Given the description of an element on the screen output the (x, y) to click on. 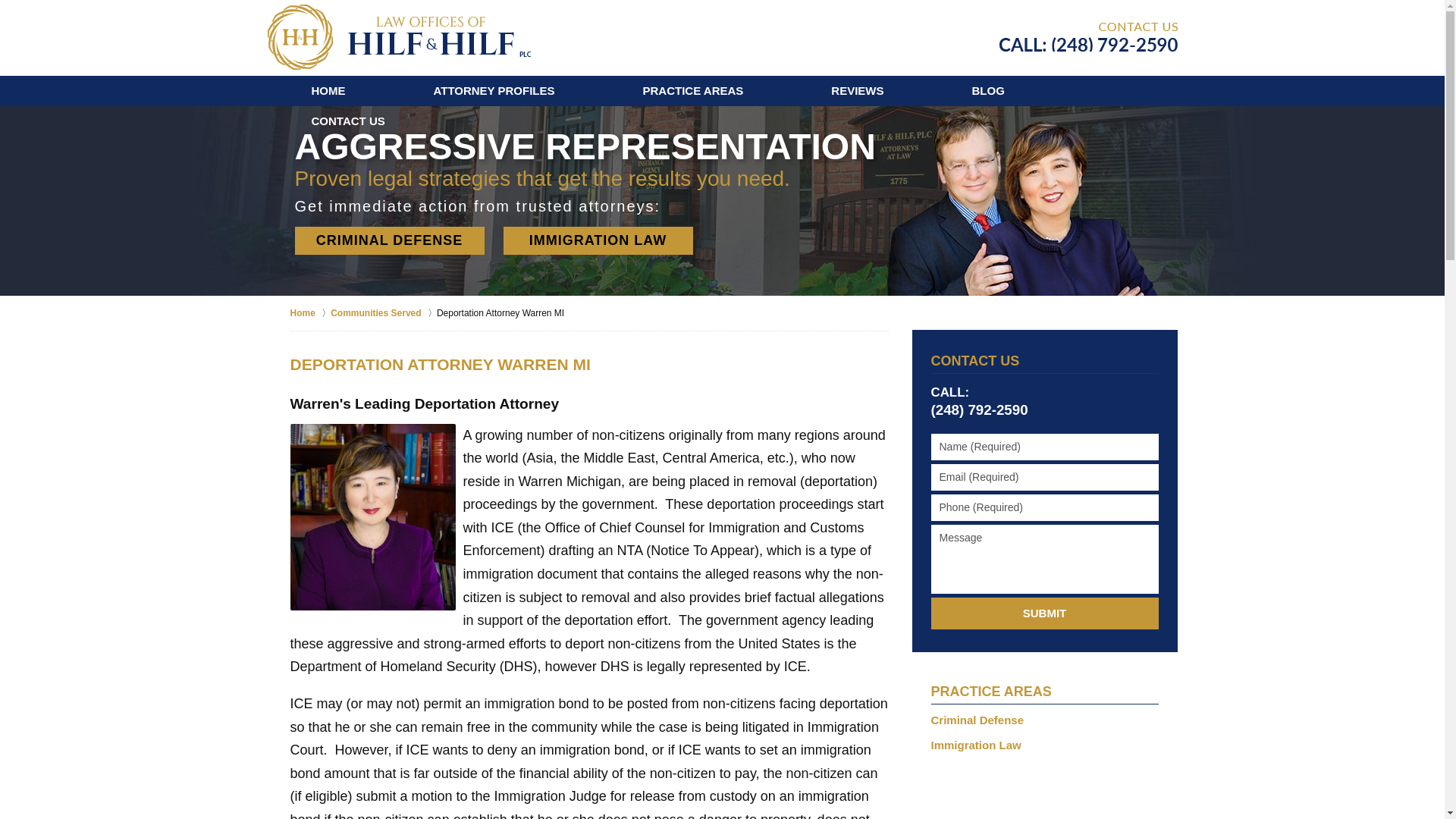
CONTACT US (975, 360)
CONTACT US (347, 121)
PRACTICE AREAS (692, 91)
Back to Home (397, 36)
Criminal Defense (1044, 719)
HOME (327, 91)
IMMIGRATION LAW (598, 240)
CRIMINAL DEFENSE (388, 240)
ATTORNEY PROFILES (494, 91)
Immigration Law (1044, 744)
REVIEWS (857, 91)
Communities Served (383, 313)
PRACTICE AREAS (991, 691)
BLOG (988, 91)
SUBMIT (1044, 613)
